Given the description of an element on the screen output the (x, y) to click on. 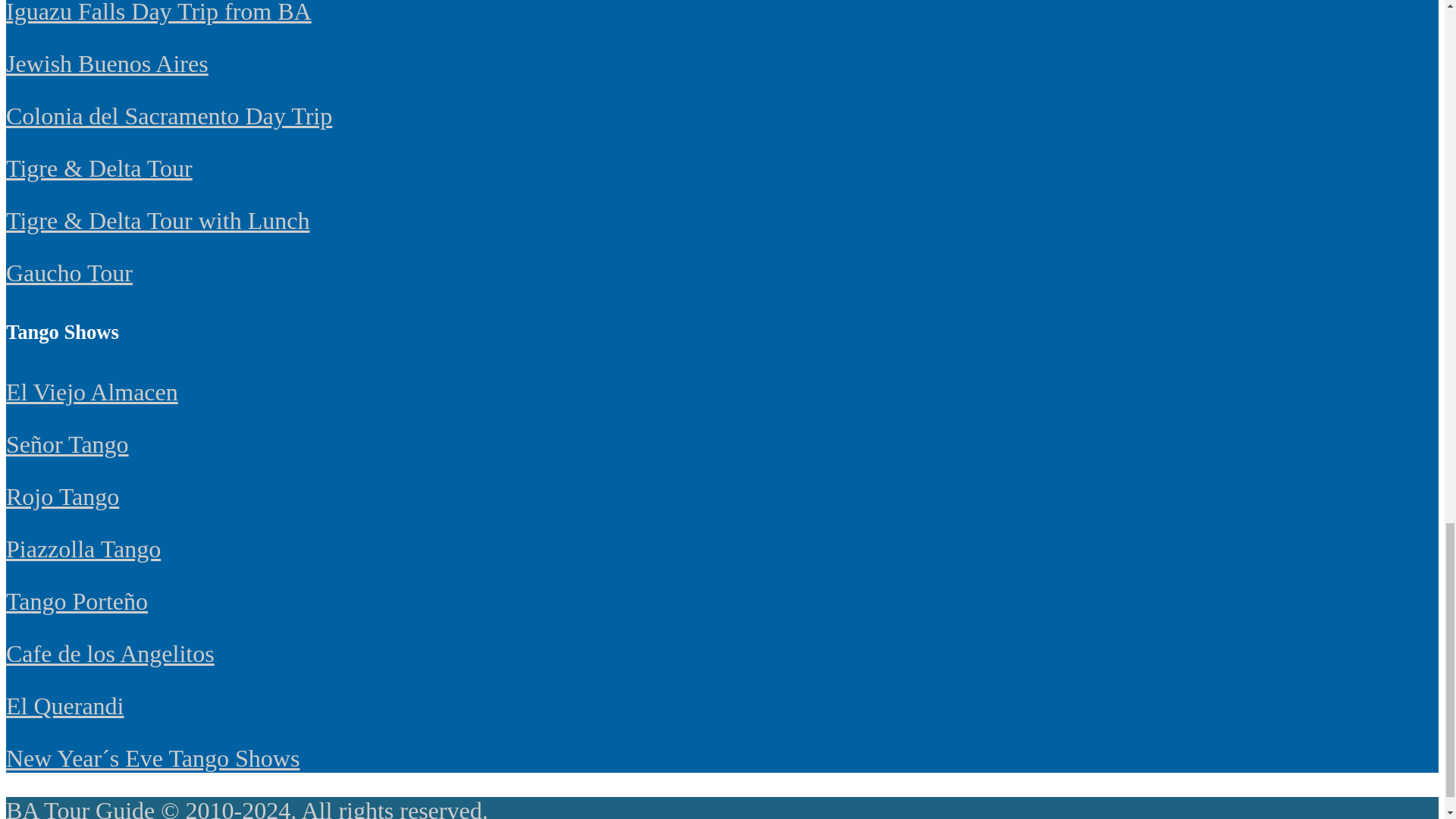
Gaucho Tour (68, 272)
Colonia del Sacramento Day Trip (168, 115)
Iguazu Falls Day Trip from BA (158, 12)
El Viejo Almacen (91, 391)
Jewish Buenos Aires (106, 62)
Rojo Tango (62, 496)
